Given the description of an element on the screen output the (x, y) to click on. 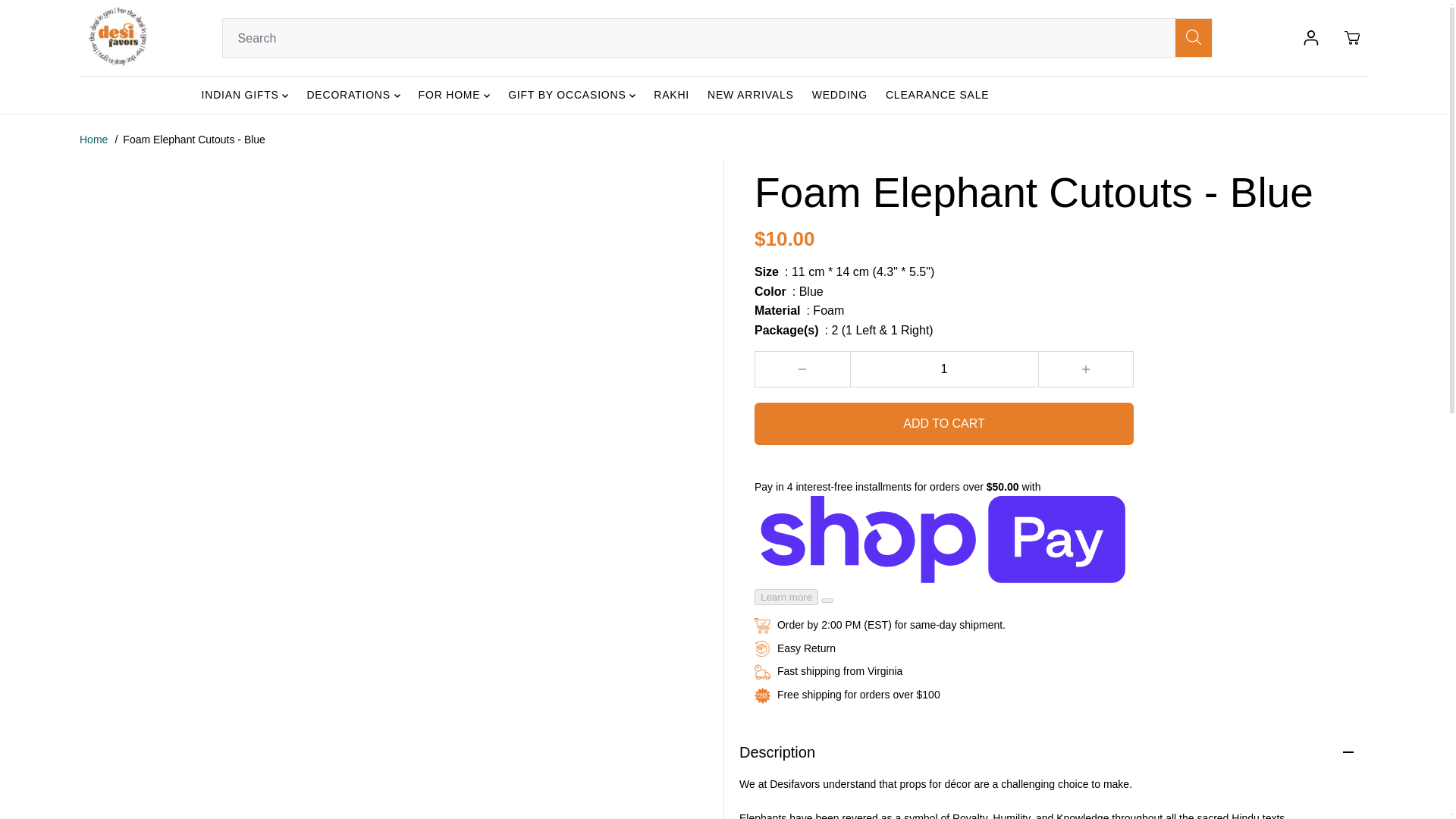
1 (943, 369)
SKIP TO CONTENT (60, 18)
Cart (1351, 37)
Home (93, 139)
Log in (1310, 37)
